Given the description of an element on the screen output the (x, y) to click on. 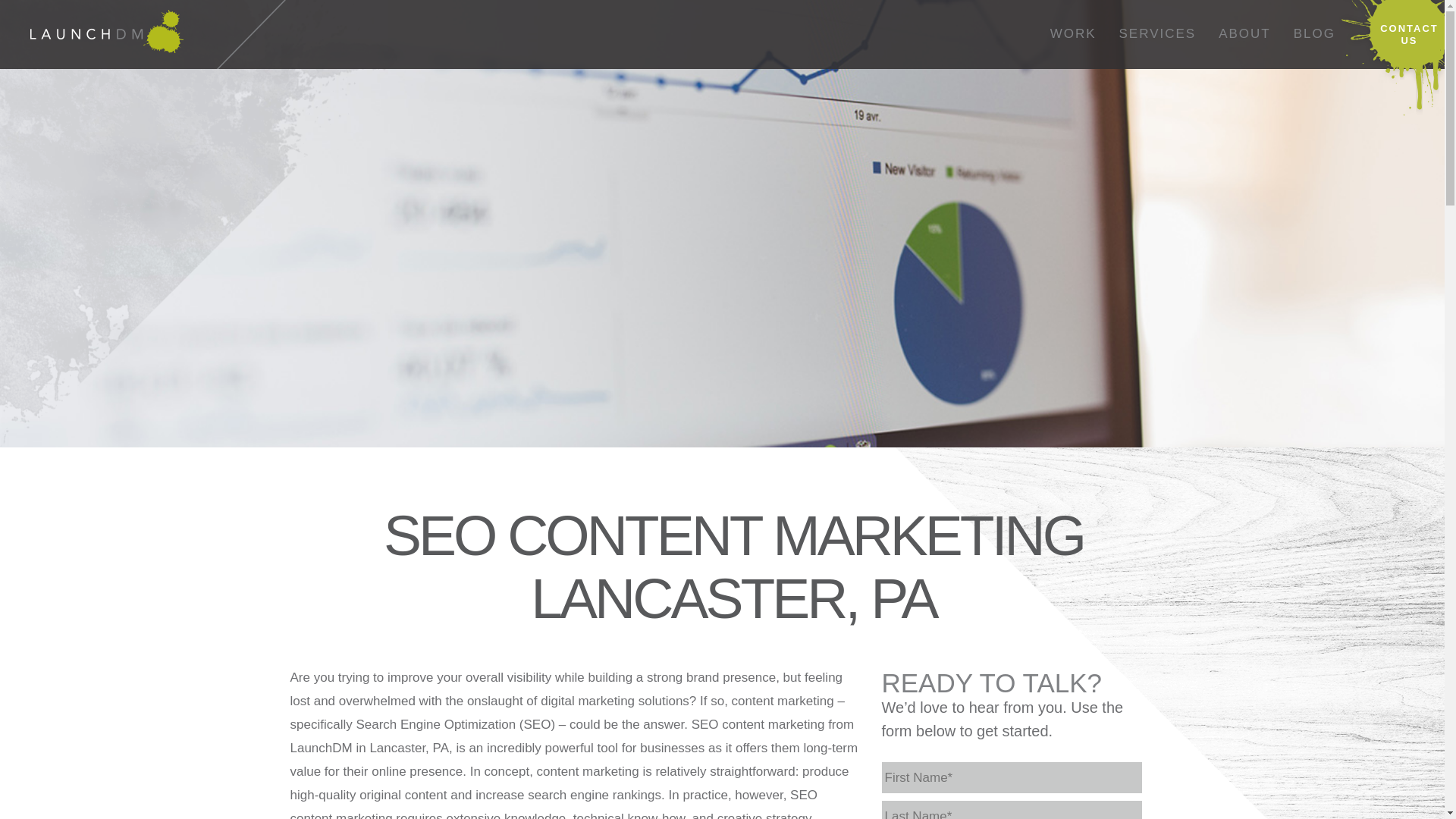
Work (1073, 34)
WORK (1073, 34)
Blog (1314, 34)
SERVICES (1158, 34)
Services (1158, 34)
BLOG (1314, 34)
ABOUT (1244, 34)
About (1244, 34)
